Given the description of an element on the screen output the (x, y) to click on. 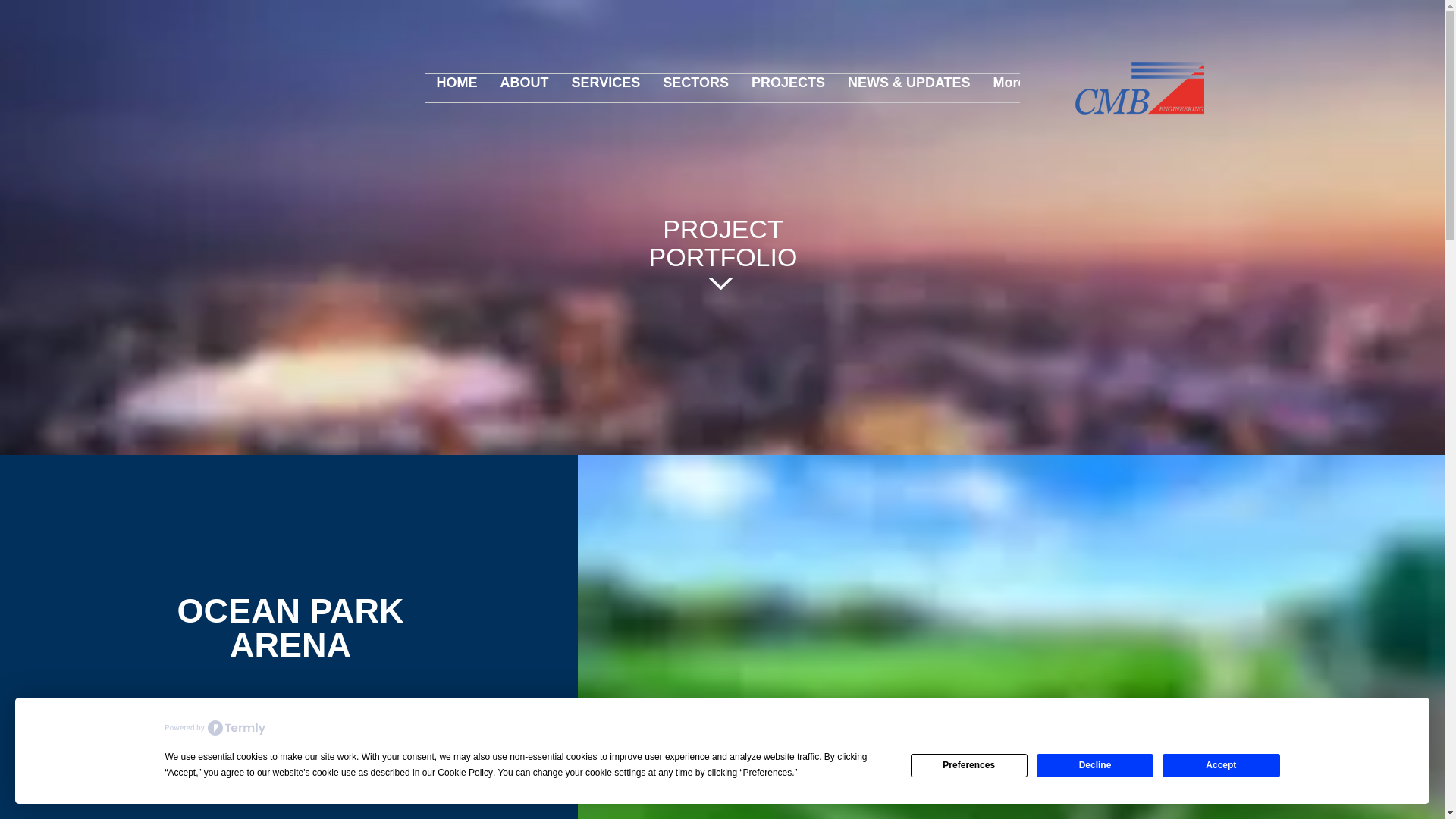
Preferences (767, 772)
ABOUT (523, 87)
Preferences (969, 765)
Accept (1220, 765)
SERVICES (604, 87)
HOME (456, 87)
PROJECTS (787, 87)
Cookie Policy (465, 772)
SECTORS (694, 87)
Decline (1094, 765)
